Given the description of an element on the screen output the (x, y) to click on. 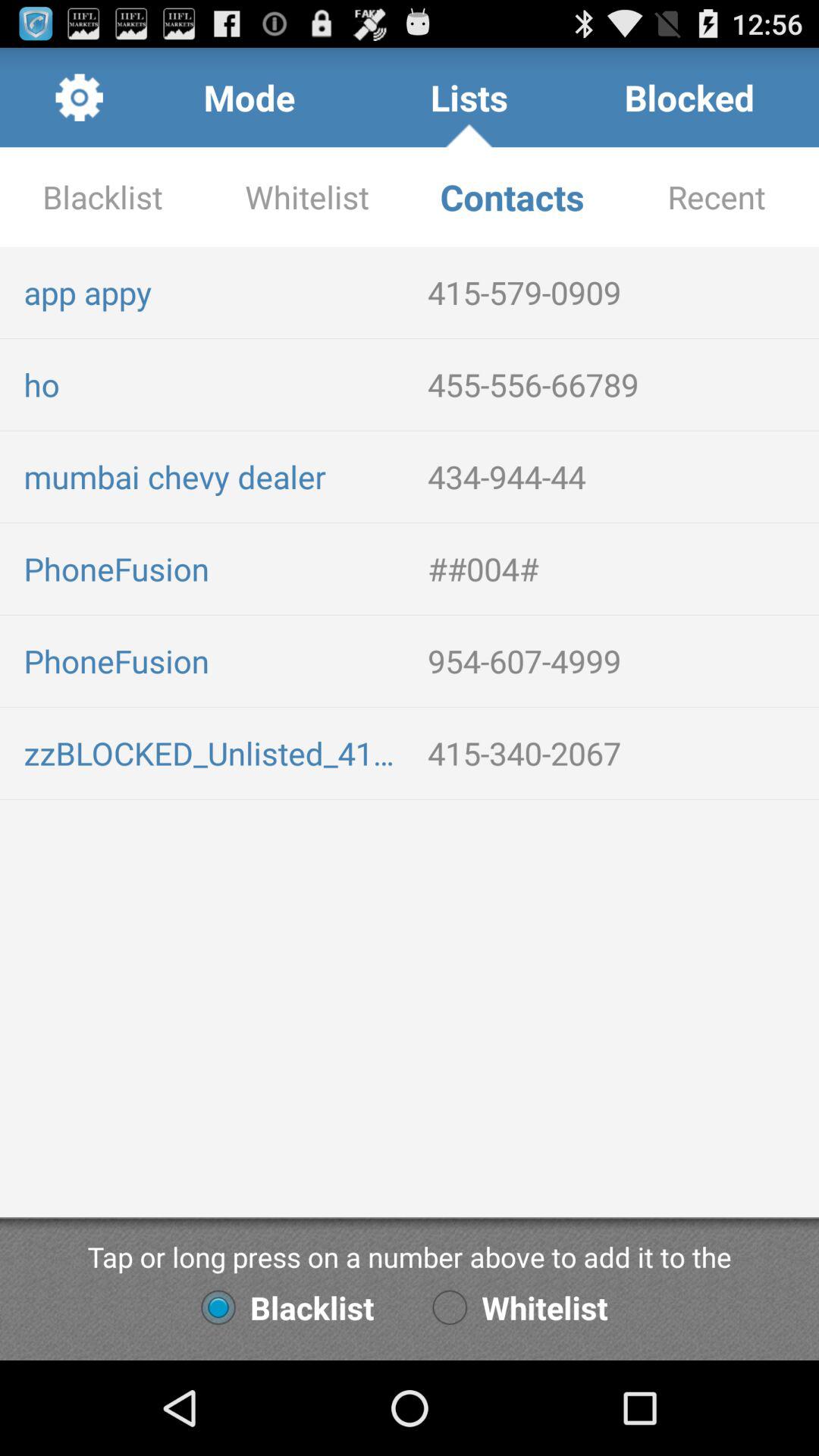
tap the icon below phonefusion (213, 752)
